Given the description of an element on the screen output the (x, y) to click on. 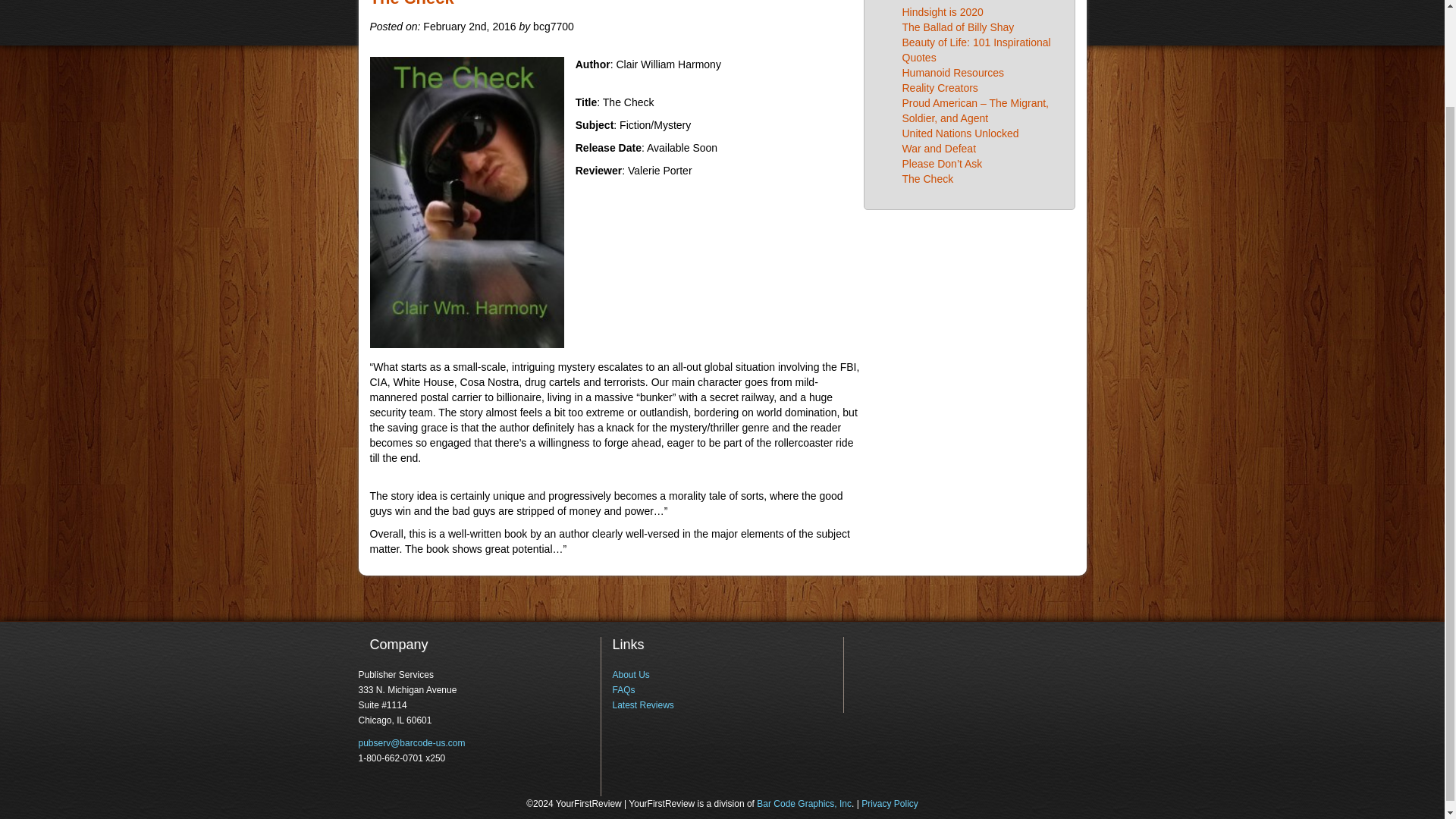
Beauty of Life: 101 Inspirational Quotes (976, 49)
The Ballad of Billy Shay (958, 27)
About Us (630, 674)
The Check (927, 178)
Humanoid Resources (953, 72)
Latest Reviews (641, 705)
Hindsight is 2020 (943, 11)
United Nations Unlocked (960, 133)
FAQs (622, 689)
War and Defeat (939, 148)
Reality Creators (940, 87)
Privacy Policy (889, 803)
Bar Code Graphics, Inc (804, 803)
